Given the description of an element on the screen output the (x, y) to click on. 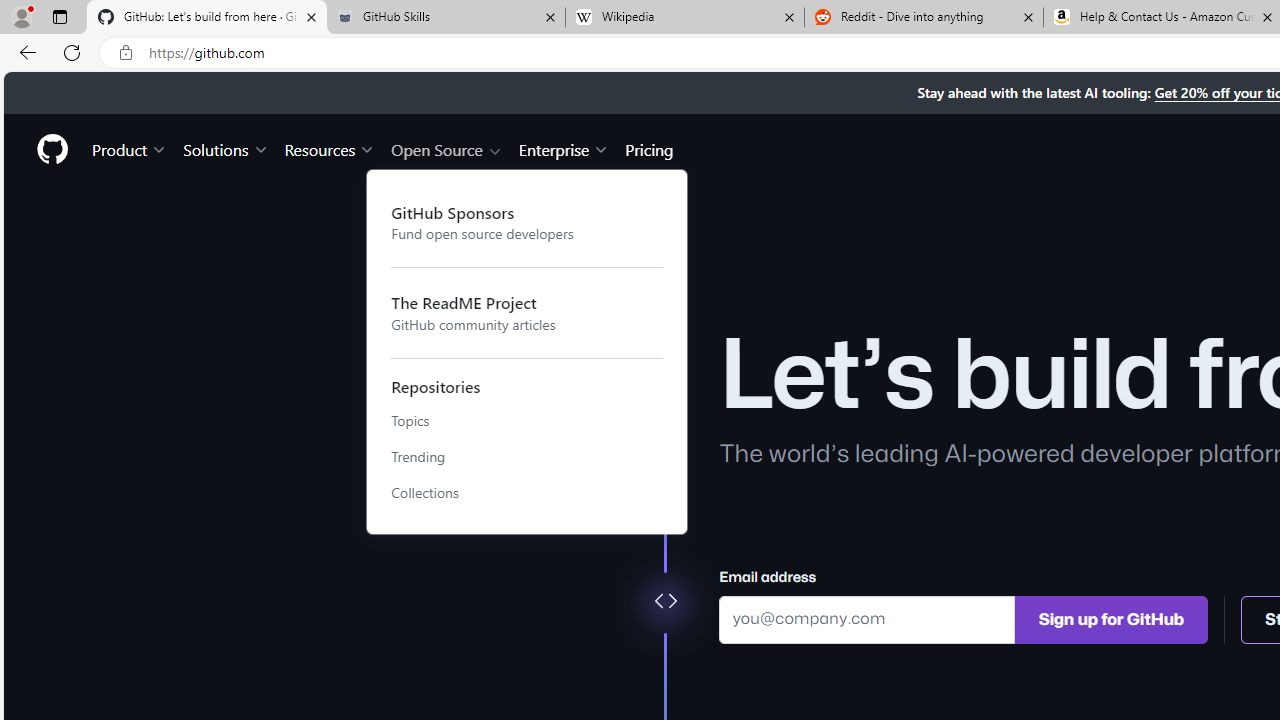
Enterprise (563, 148)
Reddit - Dive into anything (924, 17)
Resources (330, 148)
Topics (527, 421)
GitHub Sponsors Fund open source developers (527, 221)
GitHub Skills (445, 17)
Sign up for GitHub (1111, 618)
Solutions (225, 148)
Topics (527, 421)
Homepage (51, 149)
Email address (867, 618)
Resources (330, 148)
The ReadME Project GitHub community articles (527, 312)
